Given the description of an element on the screen output the (x, y) to click on. 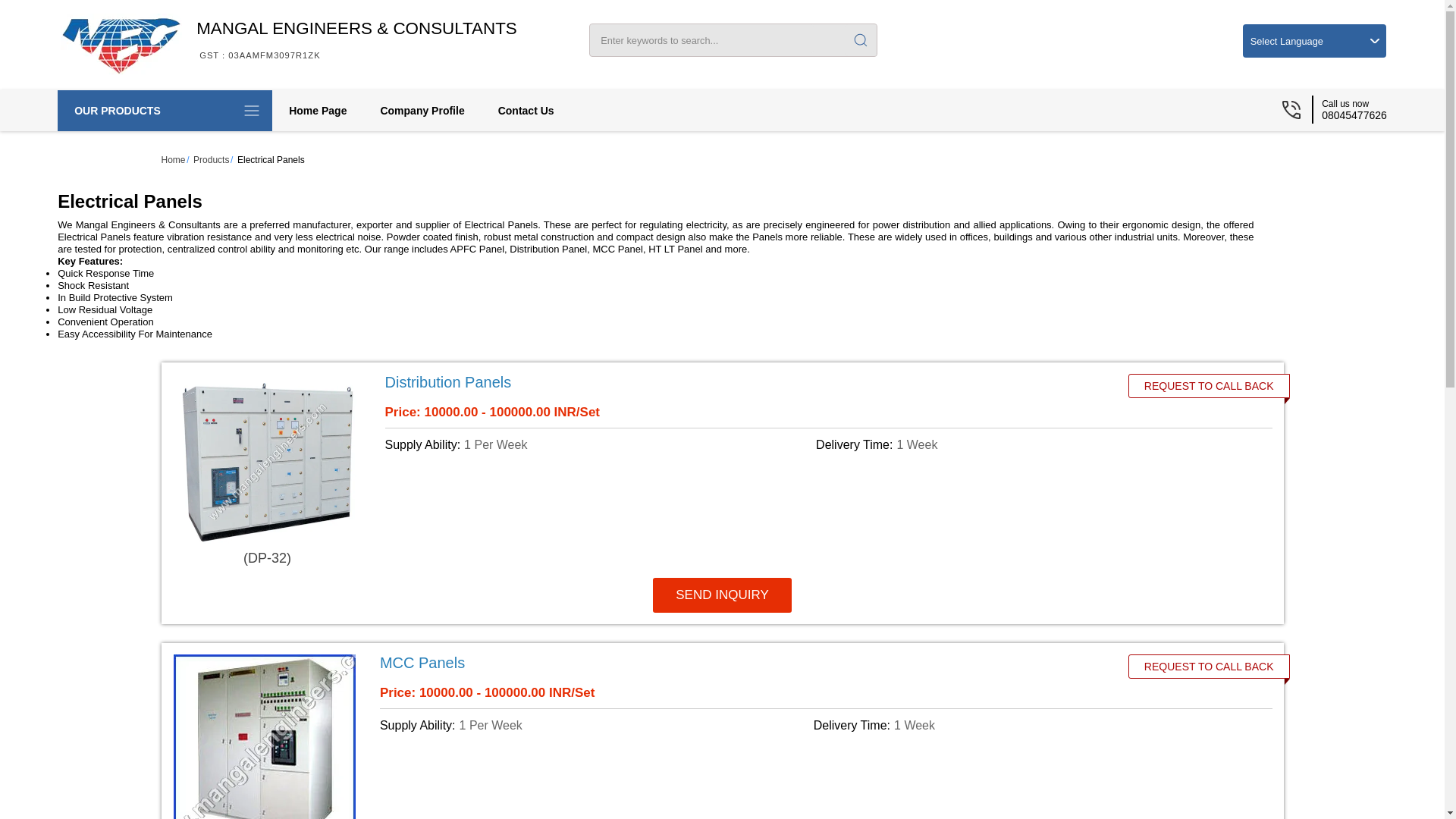
MCC Panels (736, 661)
Supply Ability: 1 Per Week (597, 444)
Distribution Panels (739, 382)
Supply Ability: 1 Per Week (594, 724)
Delivery Time: 1 Week (1028, 444)
Enter keywords to search... (701, 38)
Select Language (1314, 41)
OUR PRODUCTS (165, 110)
submit (860, 40)
Delivery Time: 1 Week (1027, 724)
